Given the description of an element on the screen output the (x, y) to click on. 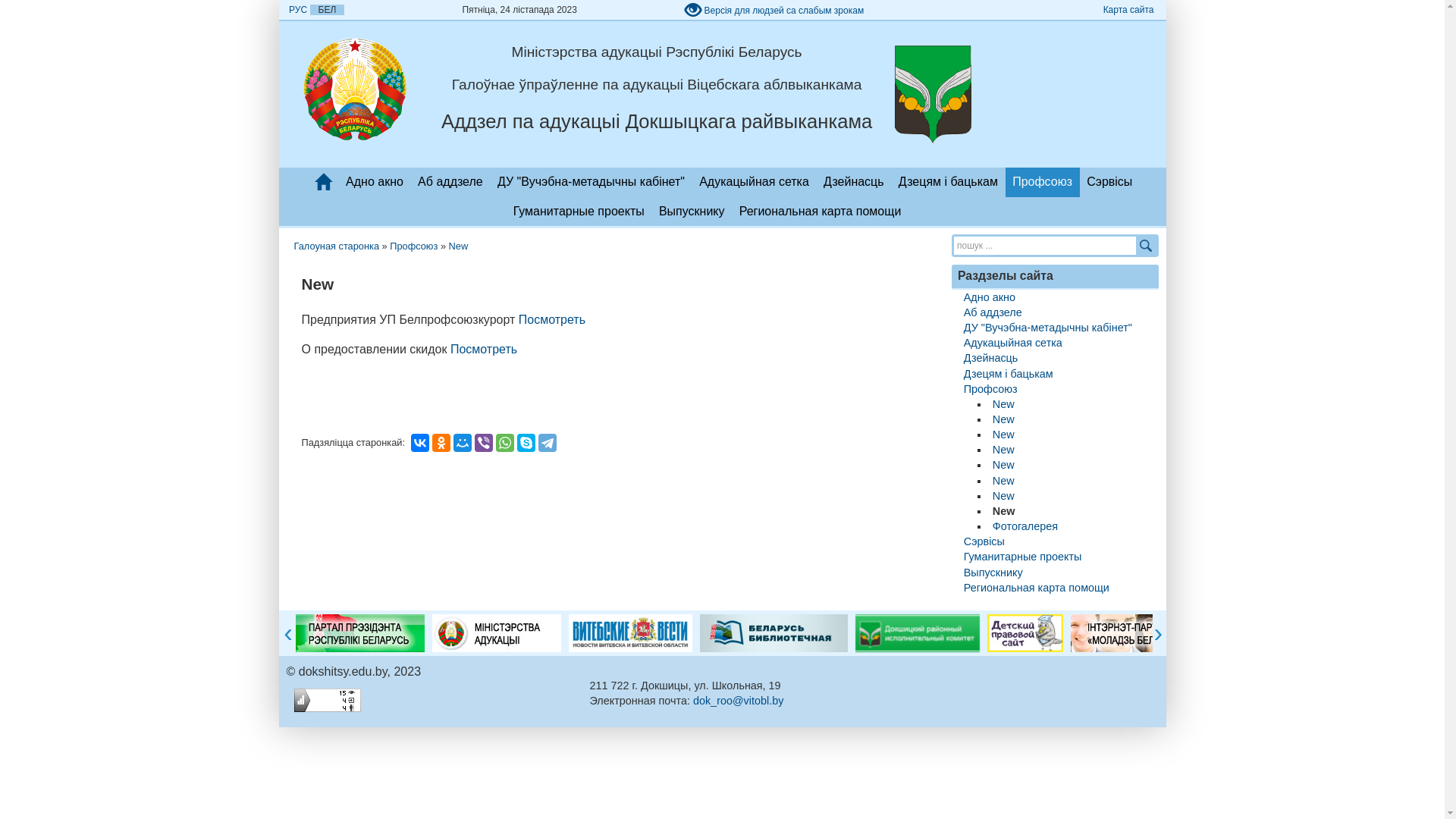
New Element type: text (458, 245)
dok_roo@vitobl.by Element type: text (738, 700)
New Element type: text (1003, 480)
Skype Element type: hover (526, 442)
New Element type: text (1003, 449)
New Element type: text (1003, 464)
New Element type: text (1003, 495)
New Element type: text (1003, 419)
Viber Element type: hover (483, 442)
Telegram Element type: hover (547, 442)
New Element type: text (1003, 434)
WhatsApp Element type: hover (504, 442)
New Element type: text (1003, 404)
